Given the description of an element on the screen output the (x, y) to click on. 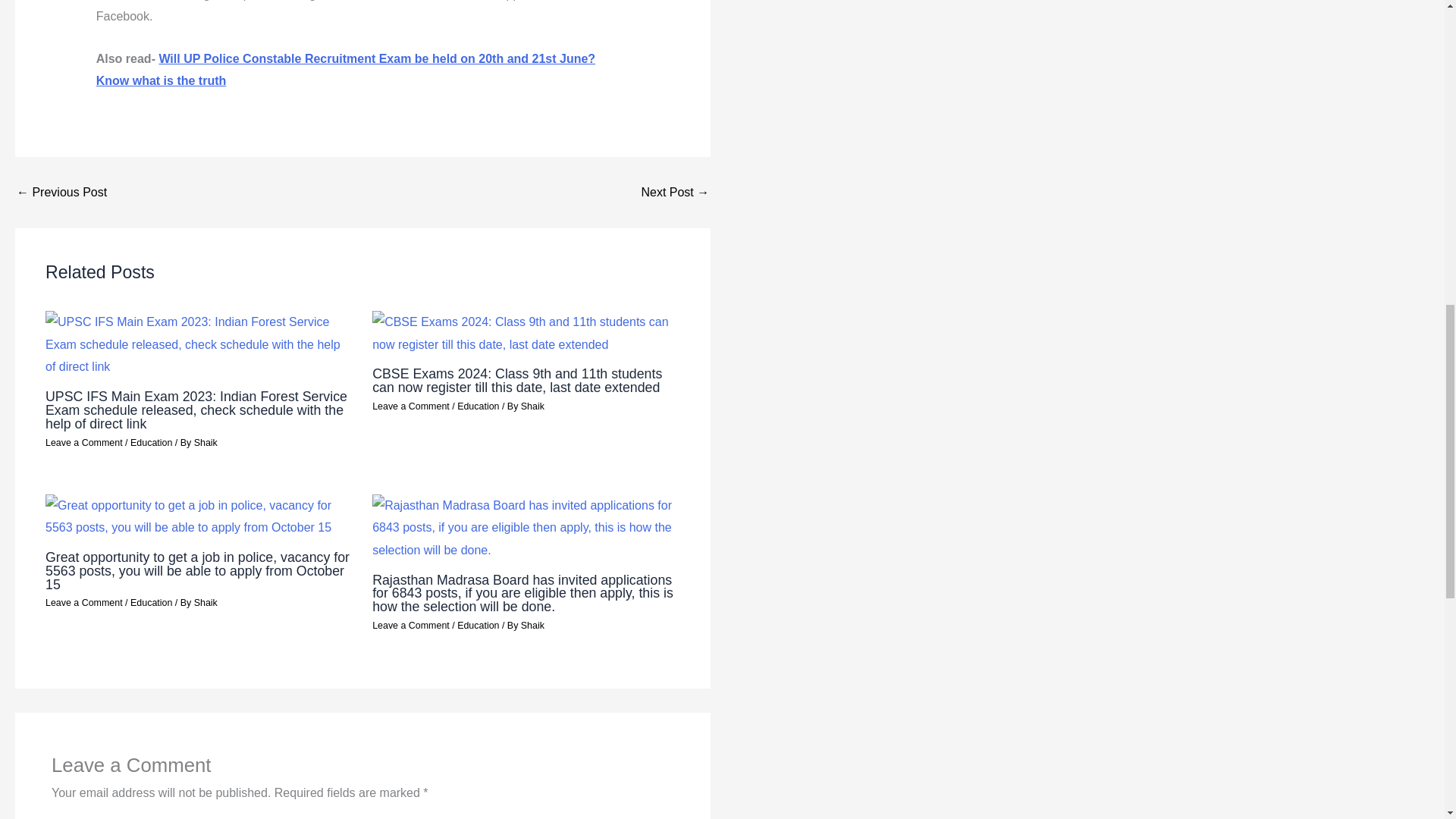
View all posts by Shaik (532, 624)
Leave a Comment (410, 406)
Education (478, 406)
Shaik (204, 442)
Leave a Comment (83, 442)
"Will (345, 69)
Education (478, 624)
Leave a Comment (410, 624)
